Given the description of an element on the screen output the (x, y) to click on. 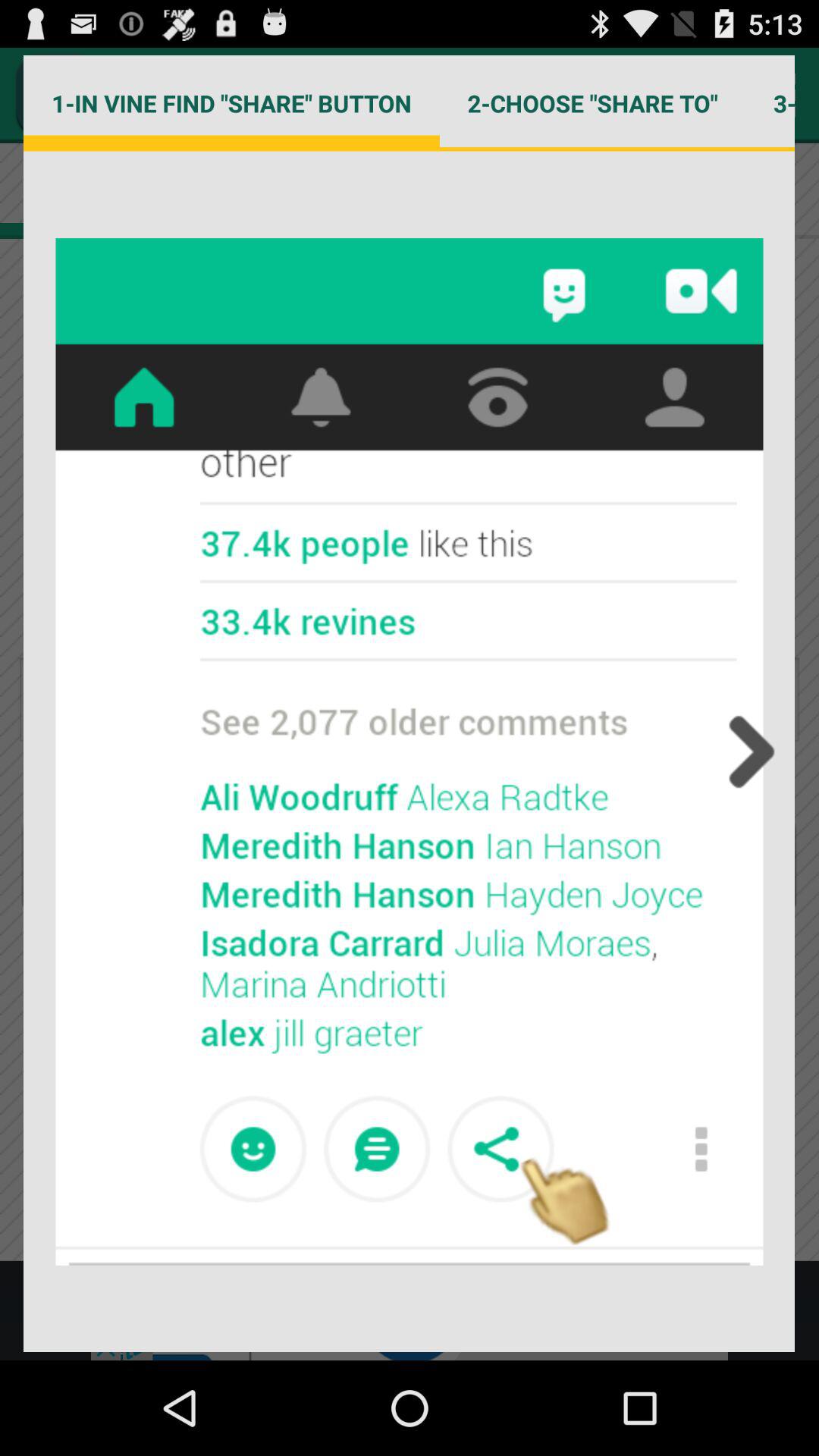
select the icon to the left of 2 choose share (231, 103)
